Given the description of an element on the screen output the (x, y) to click on. 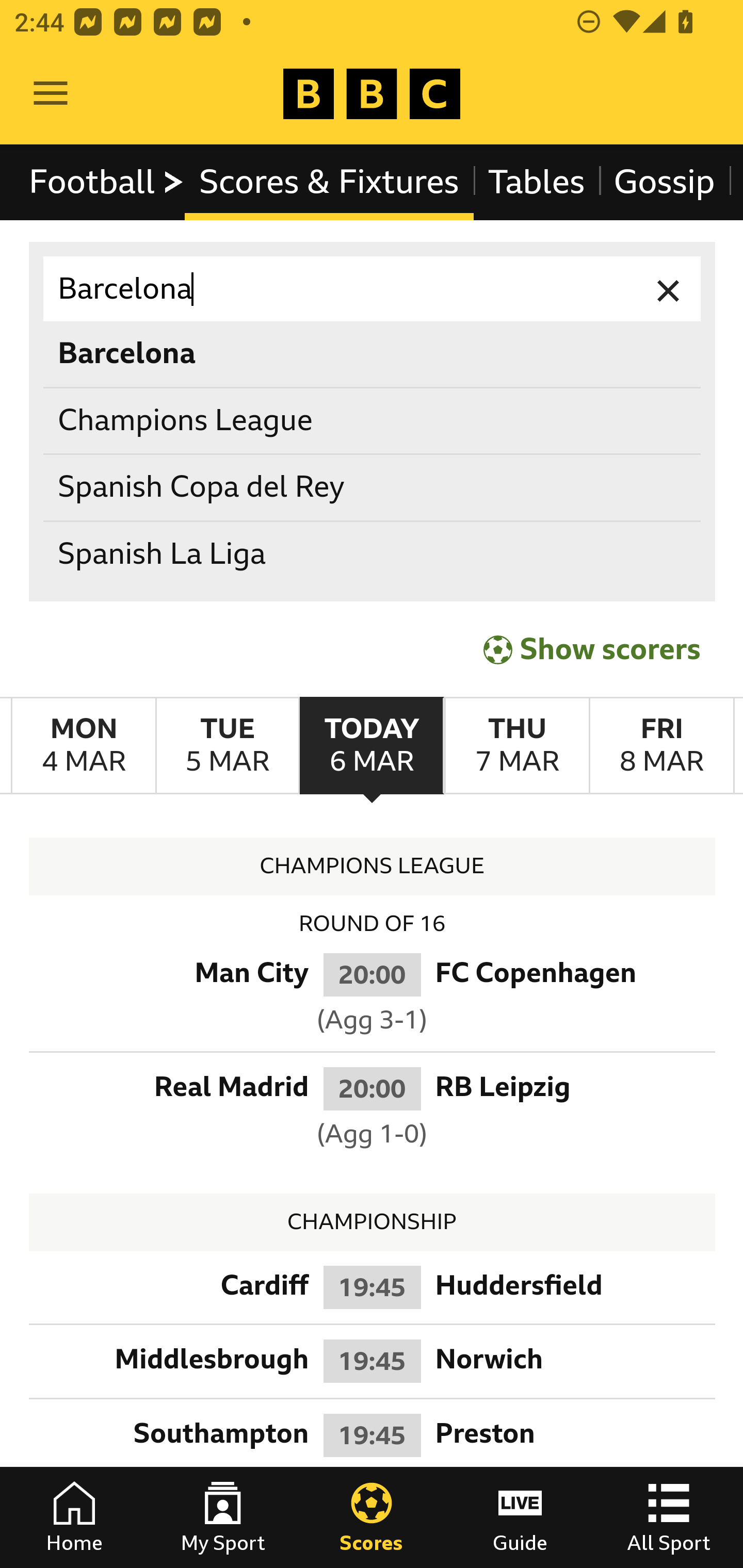
Open Menu (50, 93)
Football  (106, 181)
Scores & Fixtures (329, 181)
Tables (536, 181)
Gossip (664, 181)
Barcelona (372, 289)
Clear input (669, 289)
Champions League (372, 419)
Spanish Copa del Rey (372, 488)
Spanish La Liga (372, 554)
Show scorers (591, 647)
MondayMarch 4th Monday March 4th (83, 745)
TuesdayMarch 5th Tuesday March 5th (227, 745)
ThursdayMarch 7th Thursday March 7th (516, 745)
FridayMarch 8th Friday March 8th (661, 745)
Home (74, 1517)
My Sport (222, 1517)
Guide (519, 1517)
All Sport (668, 1517)
